Given the description of an element on the screen output the (x, y) to click on. 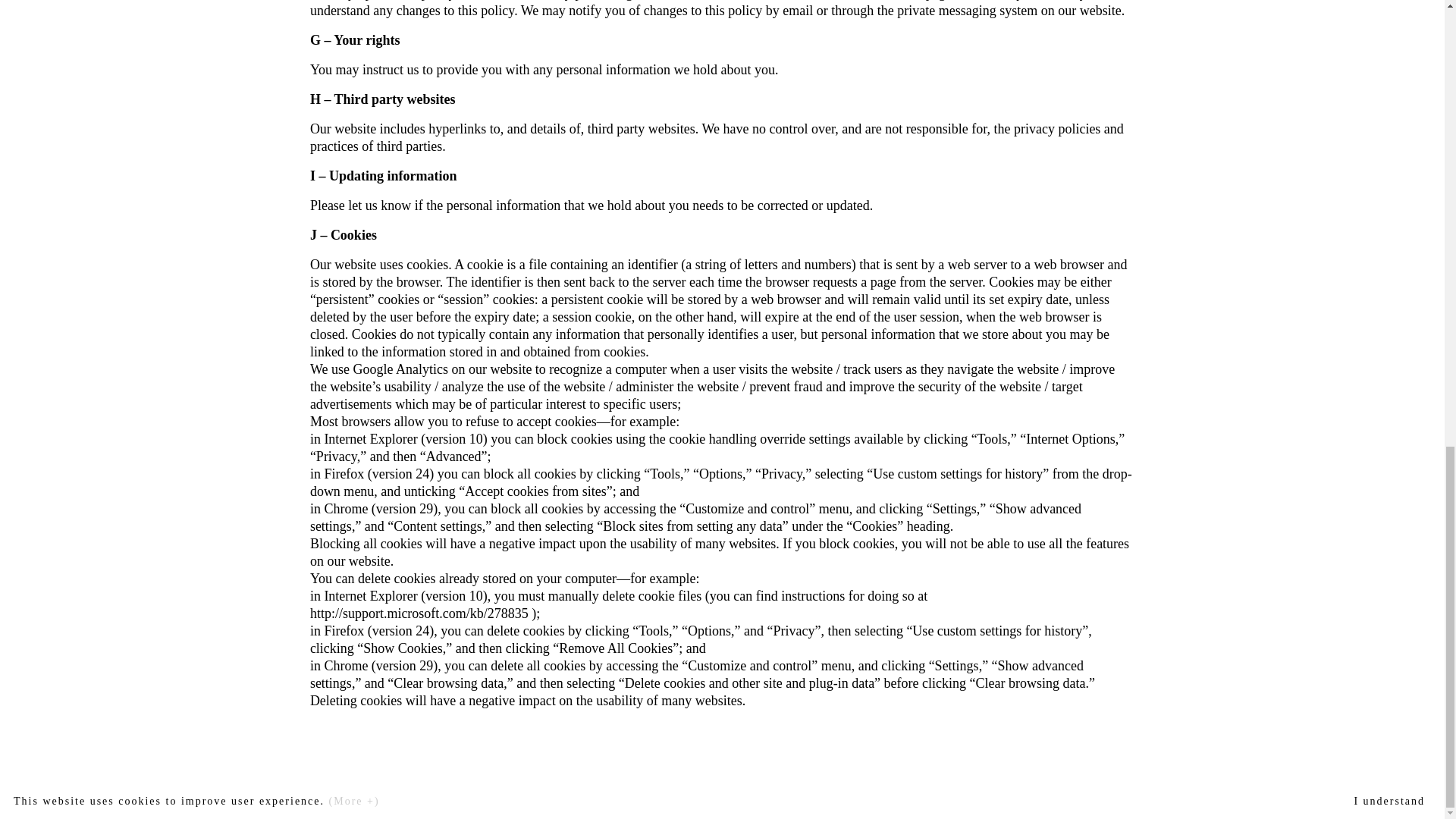
Inside Web (864, 809)
